Given the description of an element on the screen output the (x, y) to click on. 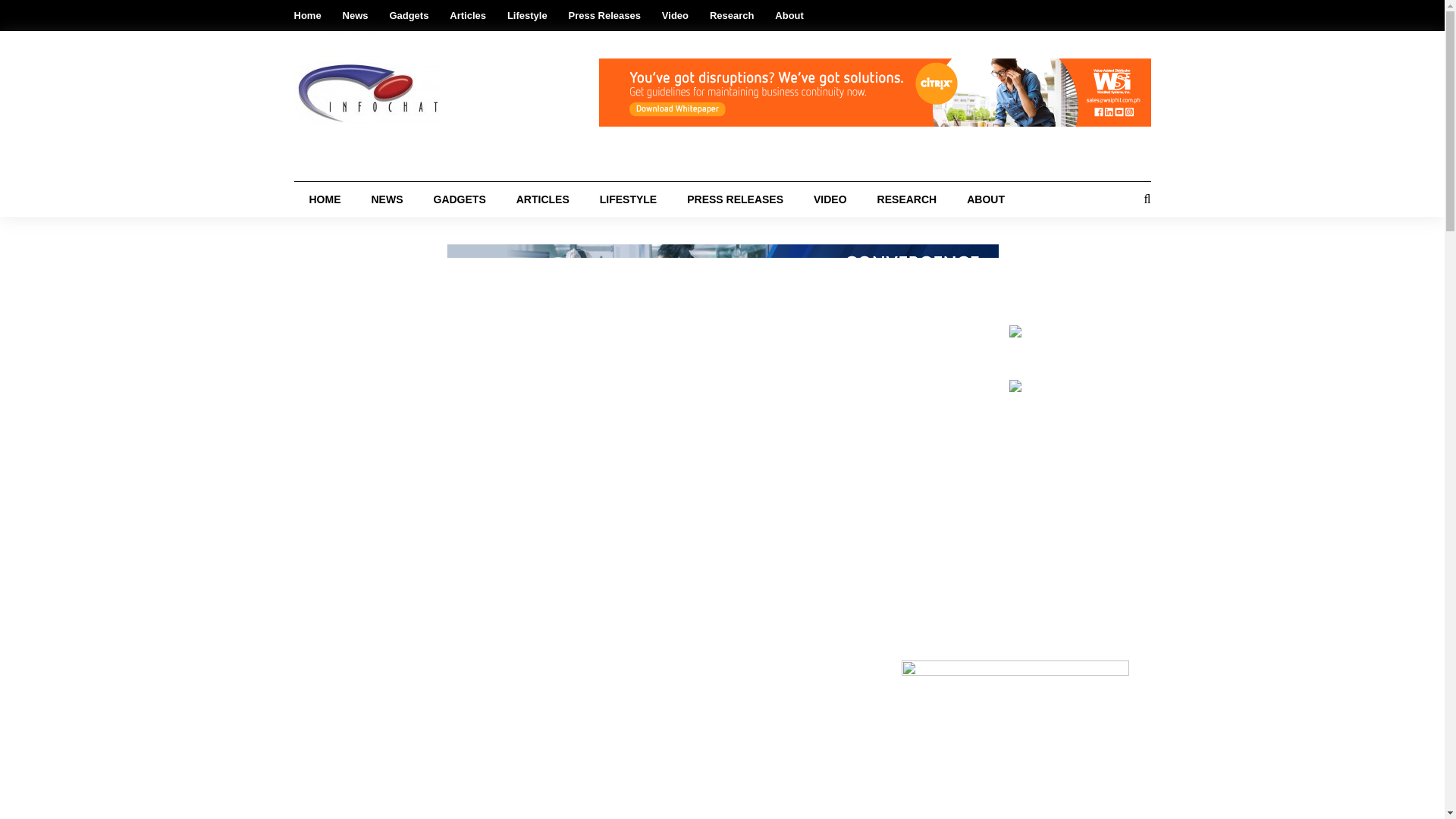
VIDEO (829, 199)
About (788, 15)
NEWS (387, 199)
PRESS RELEASES (734, 199)
GADGETS (459, 199)
ABOUT (986, 199)
Lifestyle (526, 15)
ARTICLES (542, 199)
LIFESTYLE (628, 199)
Research (732, 15)
